Given the description of an element on the screen output the (x, y) to click on. 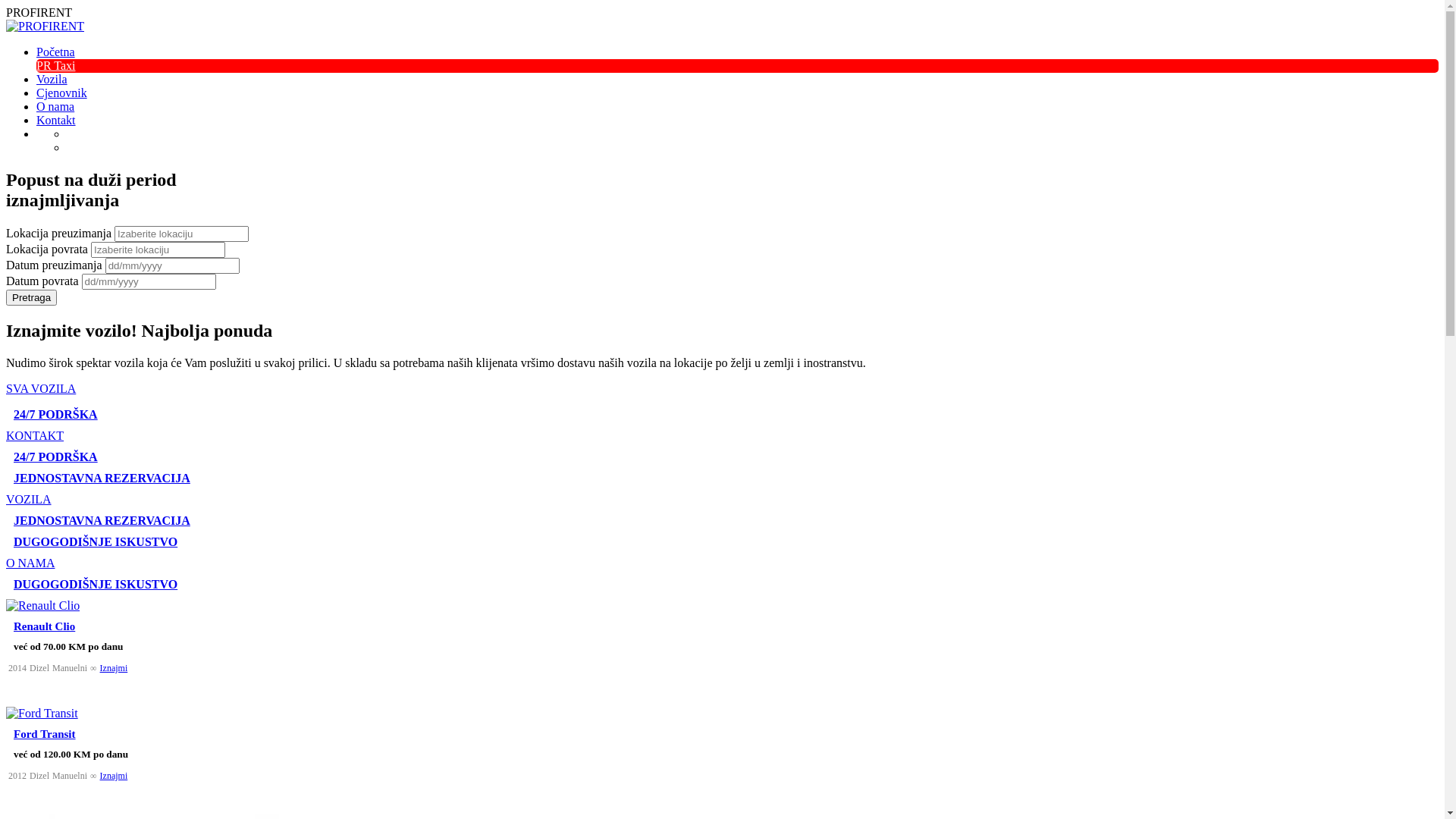
O nama Element type: text (55, 106)
Renault Clio Element type: text (44, 626)
SVA VOZILA Element type: text (40, 388)
JEDNOSTAVNA REZERVACIJA Element type: text (722, 520)
JEDNOSTAVNA REZERVACIJA
VOZILA
JEDNOSTAVNA REZERVACIJA Element type: text (722, 499)
Iznajmi Element type: text (114, 667)
Cjenovnik Element type: text (61, 92)
KONTAKT Element type: text (34, 435)
PR Taxi Element type: text (55, 65)
Kontakt Element type: text (55, 119)
Pretraga Element type: text (31, 297)
Vozila Element type: text (51, 78)
Ford Transit Element type: text (44, 734)
VOZILA Element type: text (28, 498)
O NAMA Element type: text (30, 562)
Iznajmi Element type: text (114, 775)
